Given the description of an element on the screen output the (x, y) to click on. 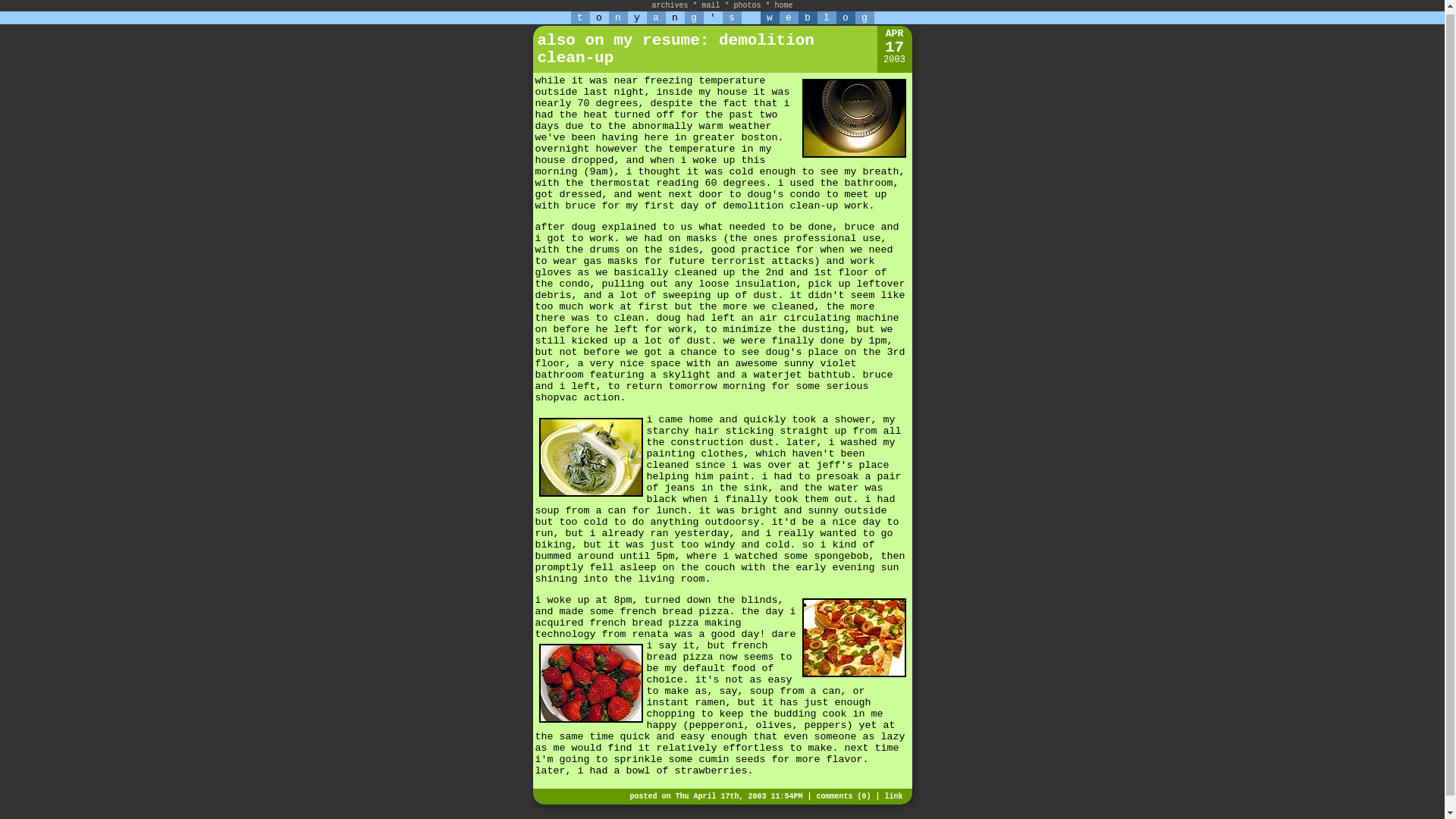
photos (747, 2)
also on my resume: demolition clean-up (675, 48)
link (892, 796)
home (783, 2)
mail (710, 2)
